Given the description of an element on the screen output the (x, y) to click on. 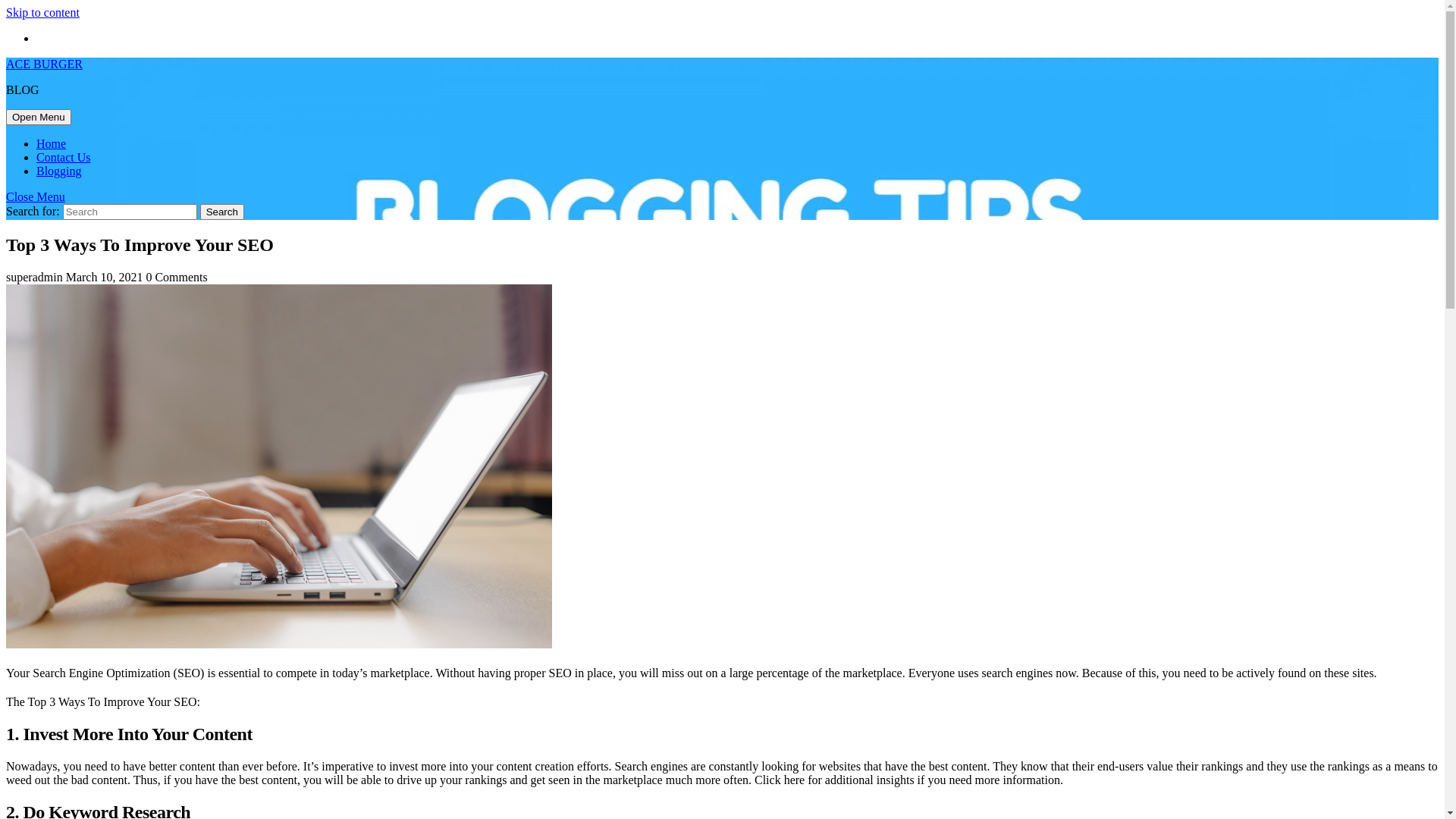
Contact Us Element type: text (63, 156)
ACE BURGER Element type: text (44, 63)
Blogging Element type: text (58, 170)
Close Menu Element type: text (35, 196)
Open Menu Element type: text (38, 117)
Skip to content Element type: text (42, 12)
Home Element type: text (50, 143)
Search Element type: text (222, 211)
